Given the description of an element on the screen output the (x, y) to click on. 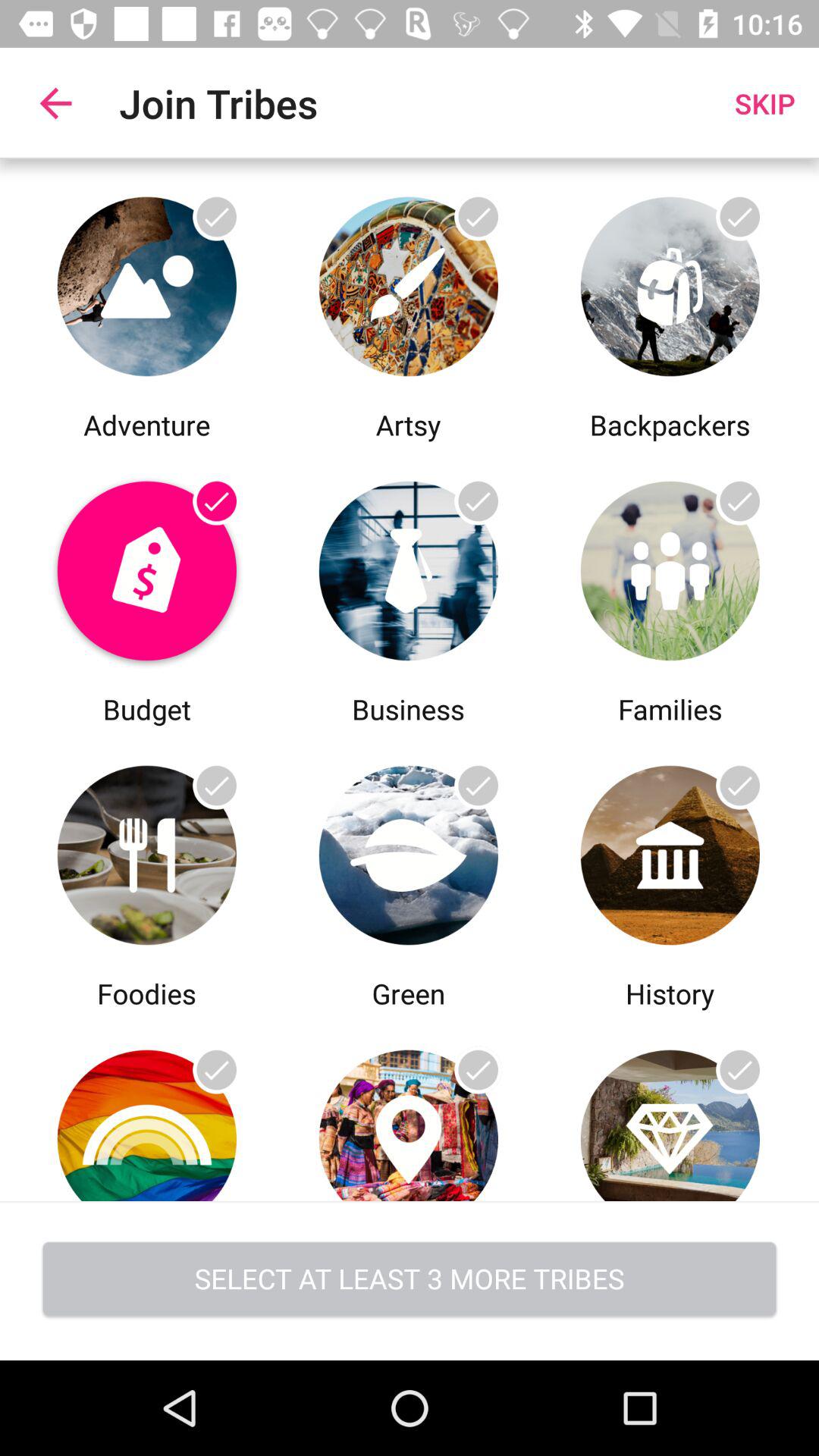
join history tribe (669, 851)
